Given the description of an element on the screen output the (x, y) to click on. 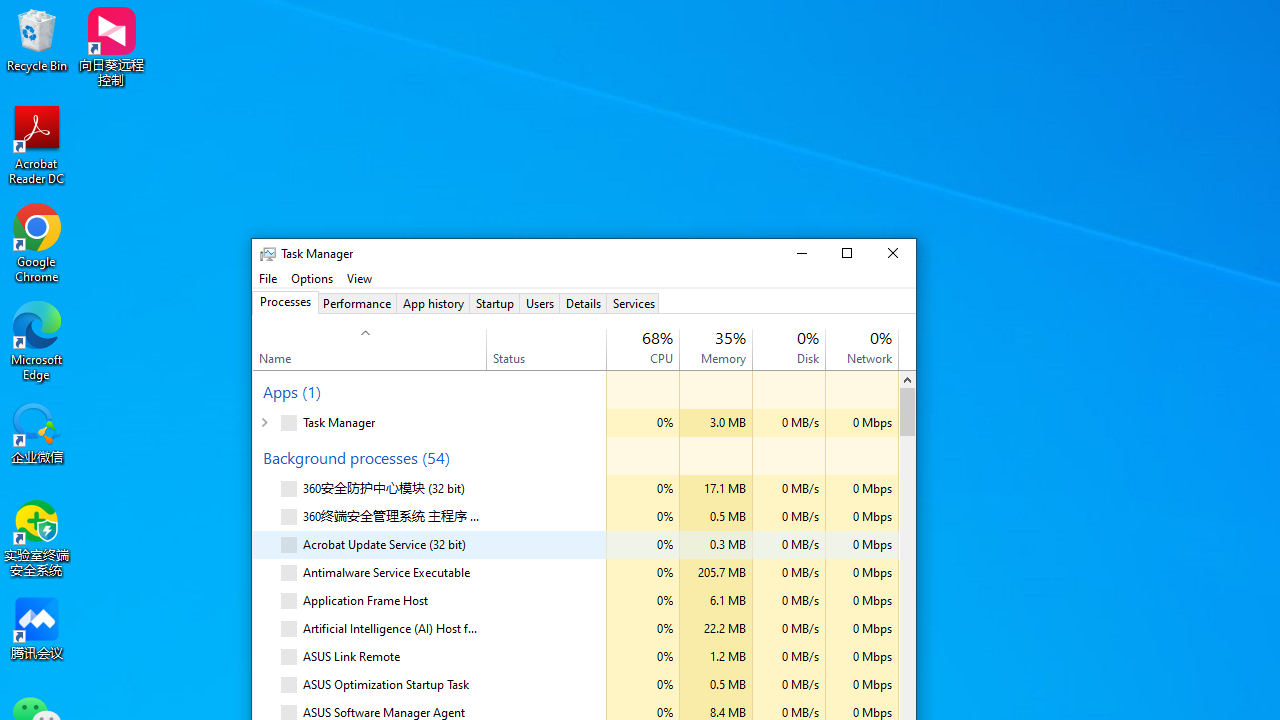
Memory (715, 685)
Services (633, 303)
36% (729, 336)
Users (539, 303)
Startup (494, 303)
Details (583, 303)
Options (312, 278)
AutomationID: TmColStatusText (490, 685)
App history (432, 303)
